Given the description of an element on the screen output the (x, y) to click on. 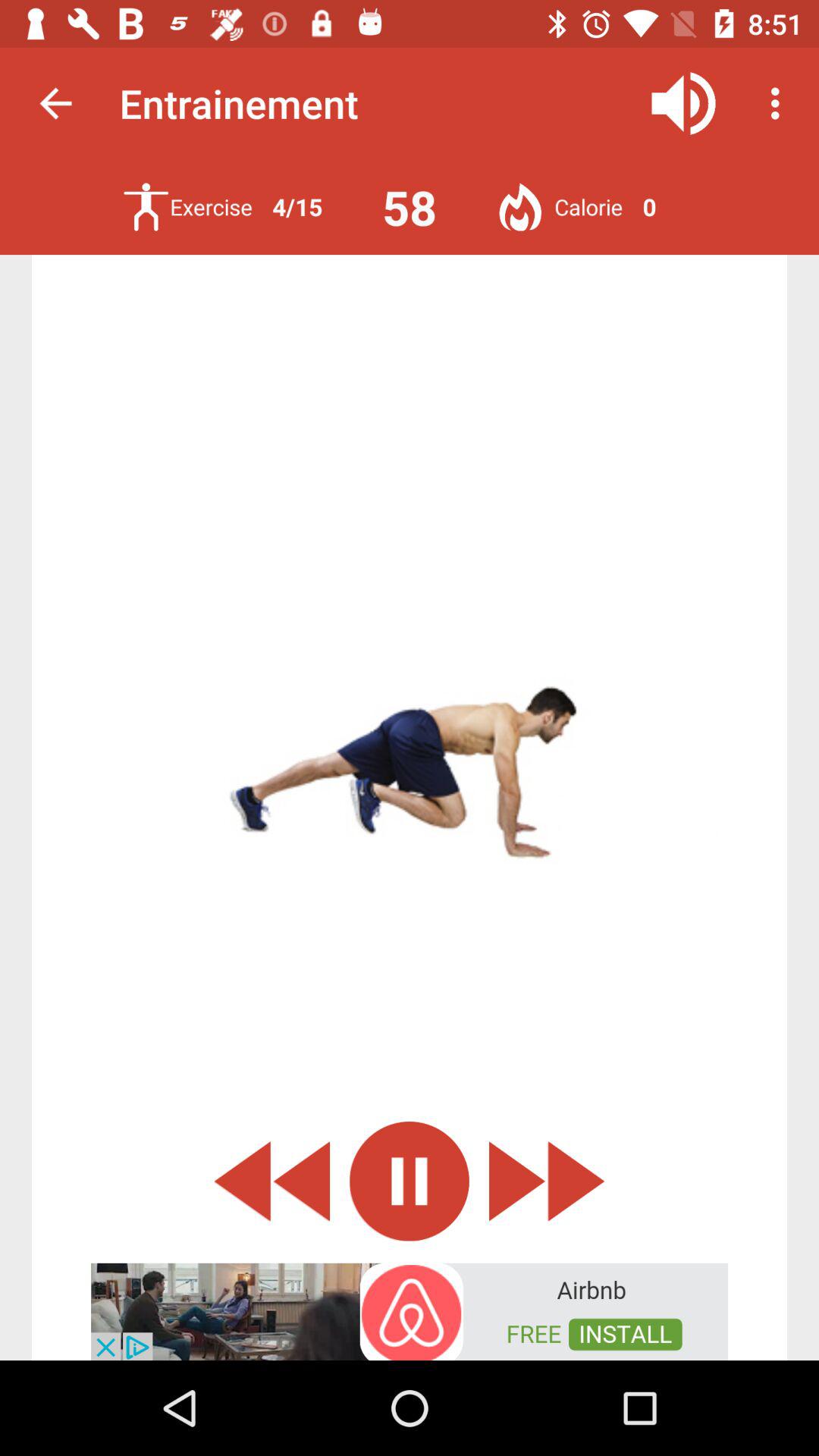
go to previous (271, 1181)
